Given the description of an element on the screen output the (x, y) to click on. 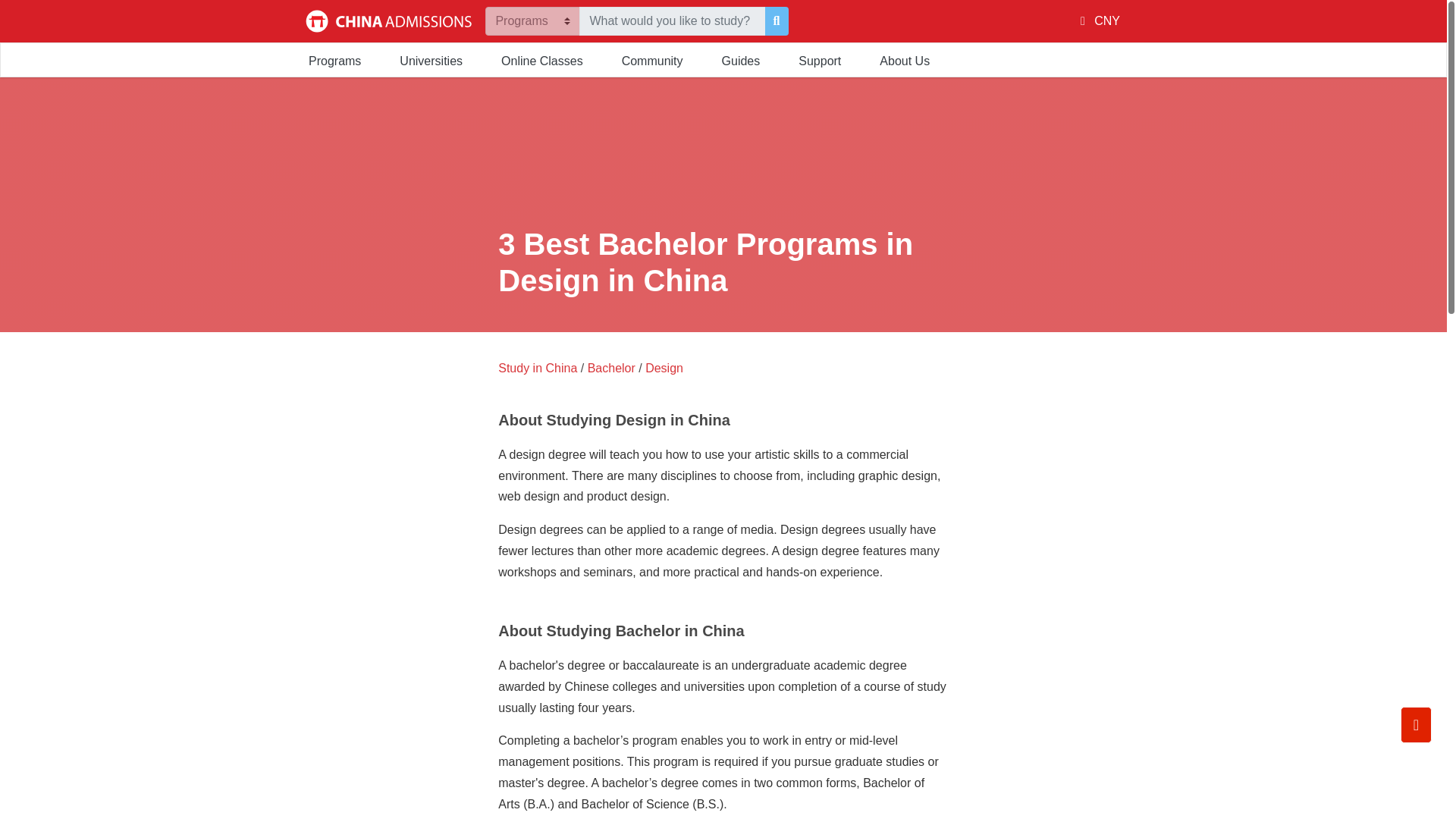
CNY (1099, 20)
